Given the description of an element on the screen output the (x, y) to click on. 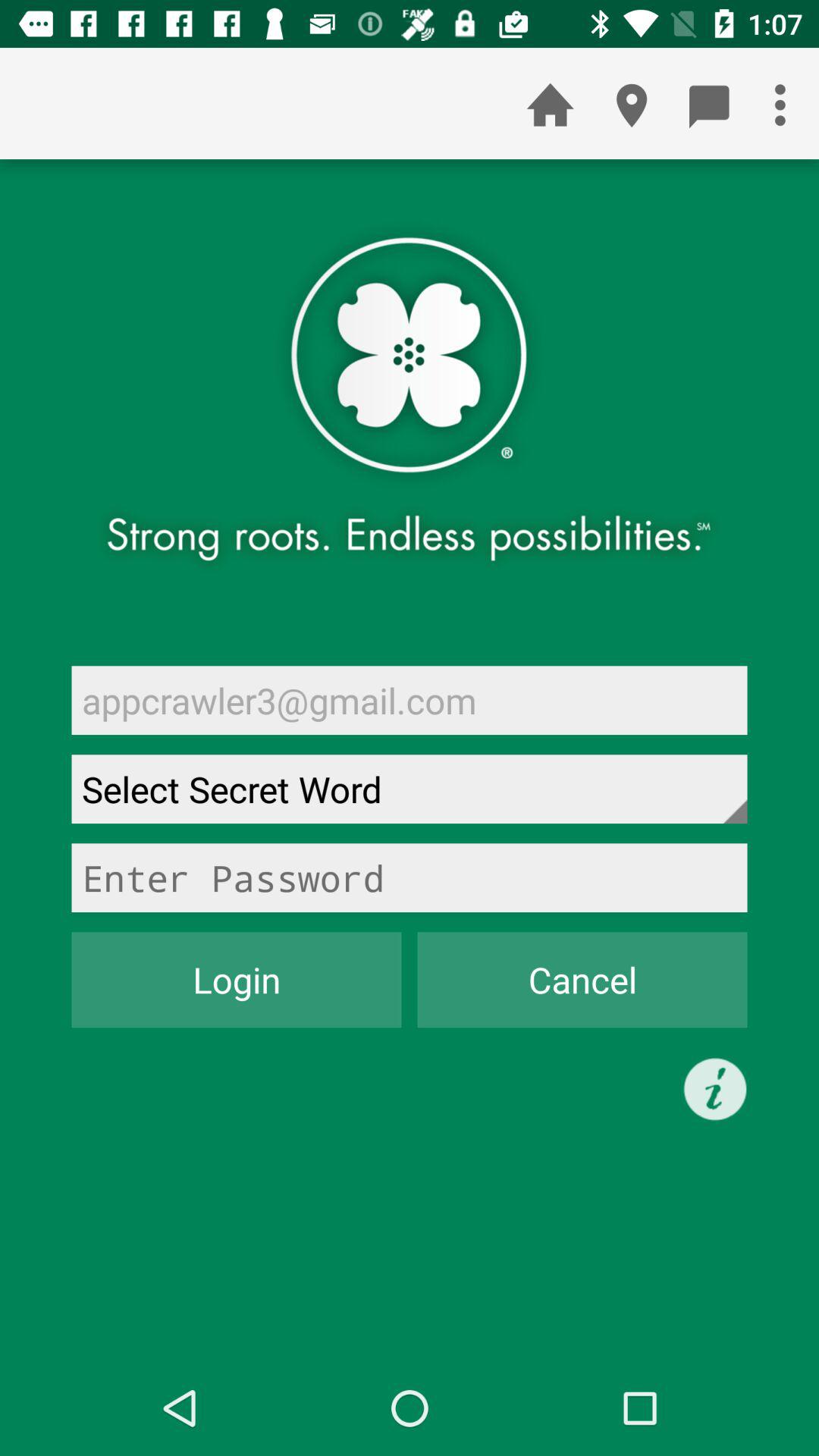
enter password (409, 877)
